Given the description of an element on the screen output the (x, y) to click on. 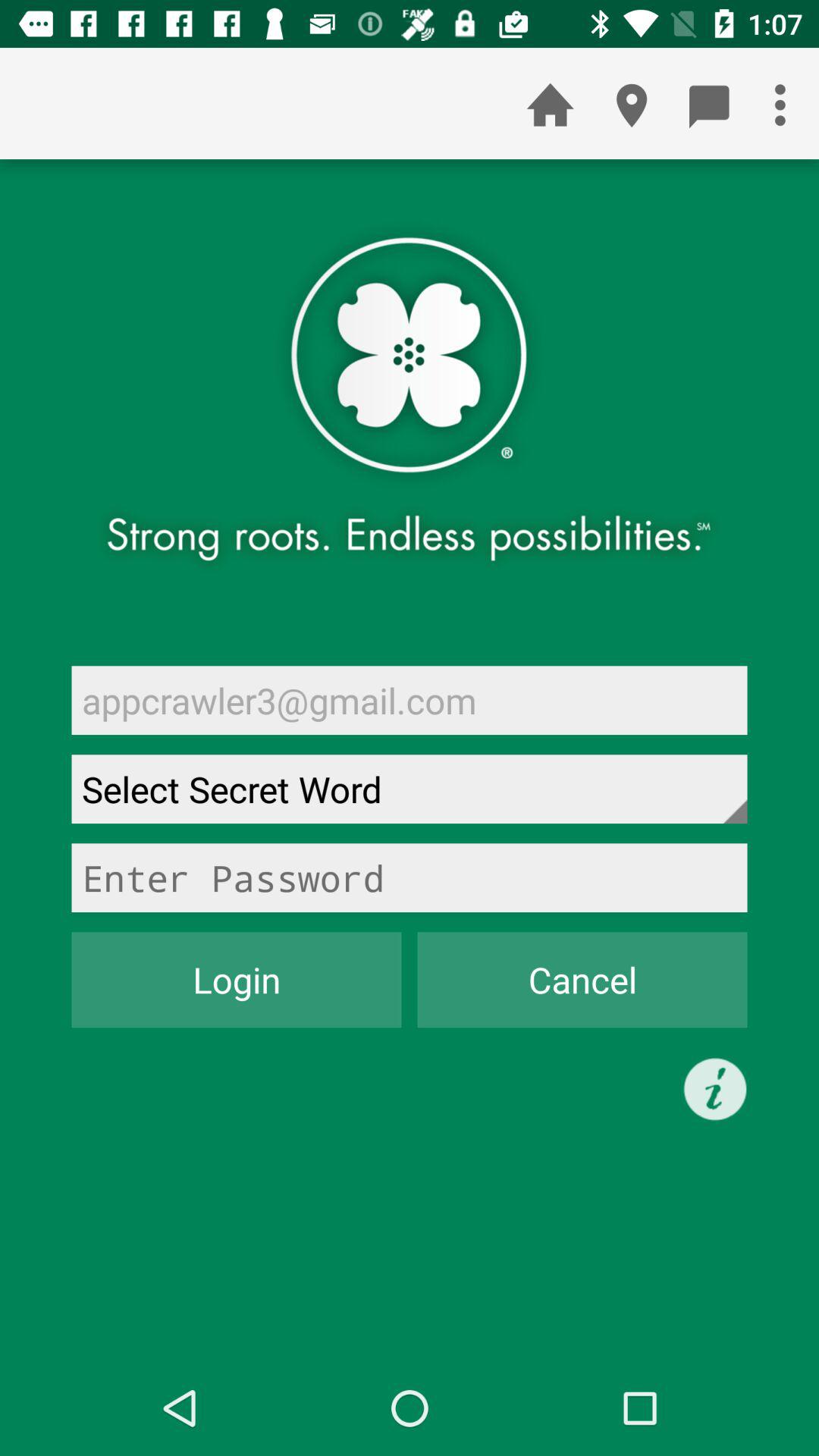
enter password (409, 877)
